Given the description of an element on the screen output the (x, y) to click on. 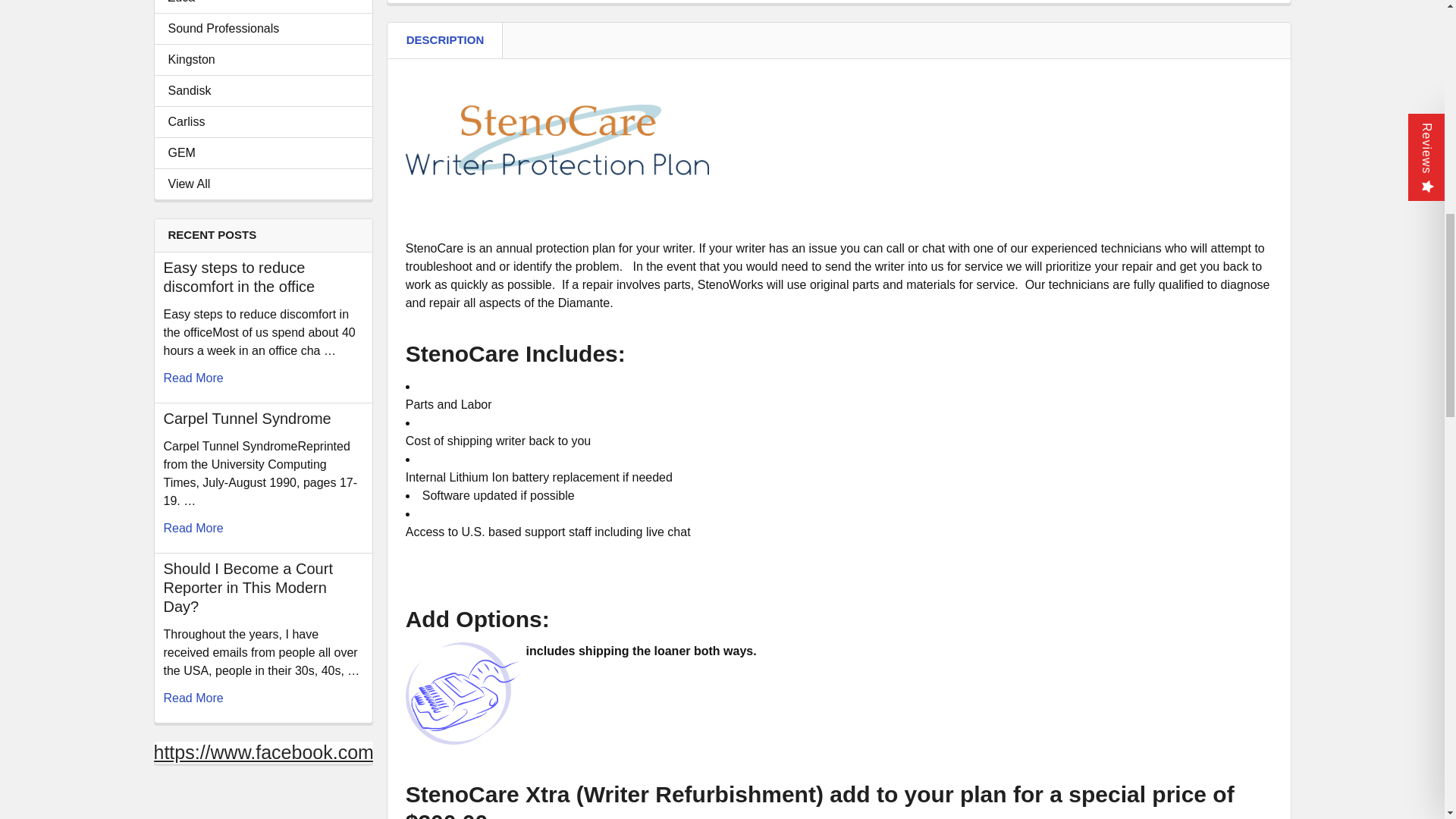
GEM (263, 153)
Kingston (263, 59)
writer-loaner.png (462, 693)
stenocare.jpg (557, 139)
Zuca (263, 3)
Sandisk (263, 90)
Sound Professionals (263, 28)
Carliss (263, 122)
